Given the description of an element on the screen output the (x, y) to click on. 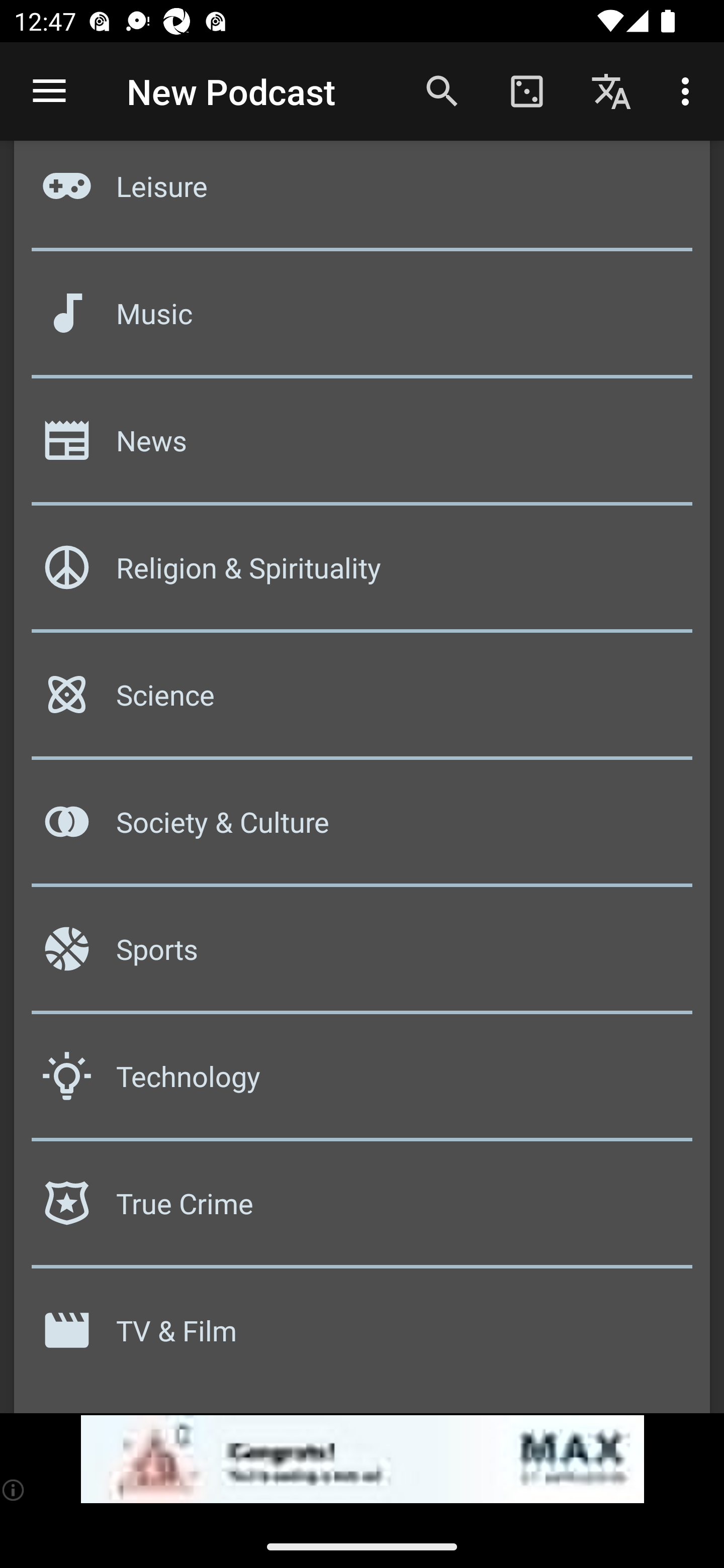
Open navigation sidebar (49, 91)
Search (442, 90)
Random pick (526, 90)
Podcast languages (611, 90)
More options (688, 90)
Leisure (361, 199)
Music (361, 320)
News (361, 447)
Religion & Spirituality (361, 574)
Science (361, 701)
Society & Culture (361, 828)
Sports (361, 955)
Technology (361, 1082)
True Crime (361, 1209)
TV & Film (361, 1337)
app-monetization (362, 1459)
(i) (14, 1489)
